Given the description of an element on the screen output the (x, y) to click on. 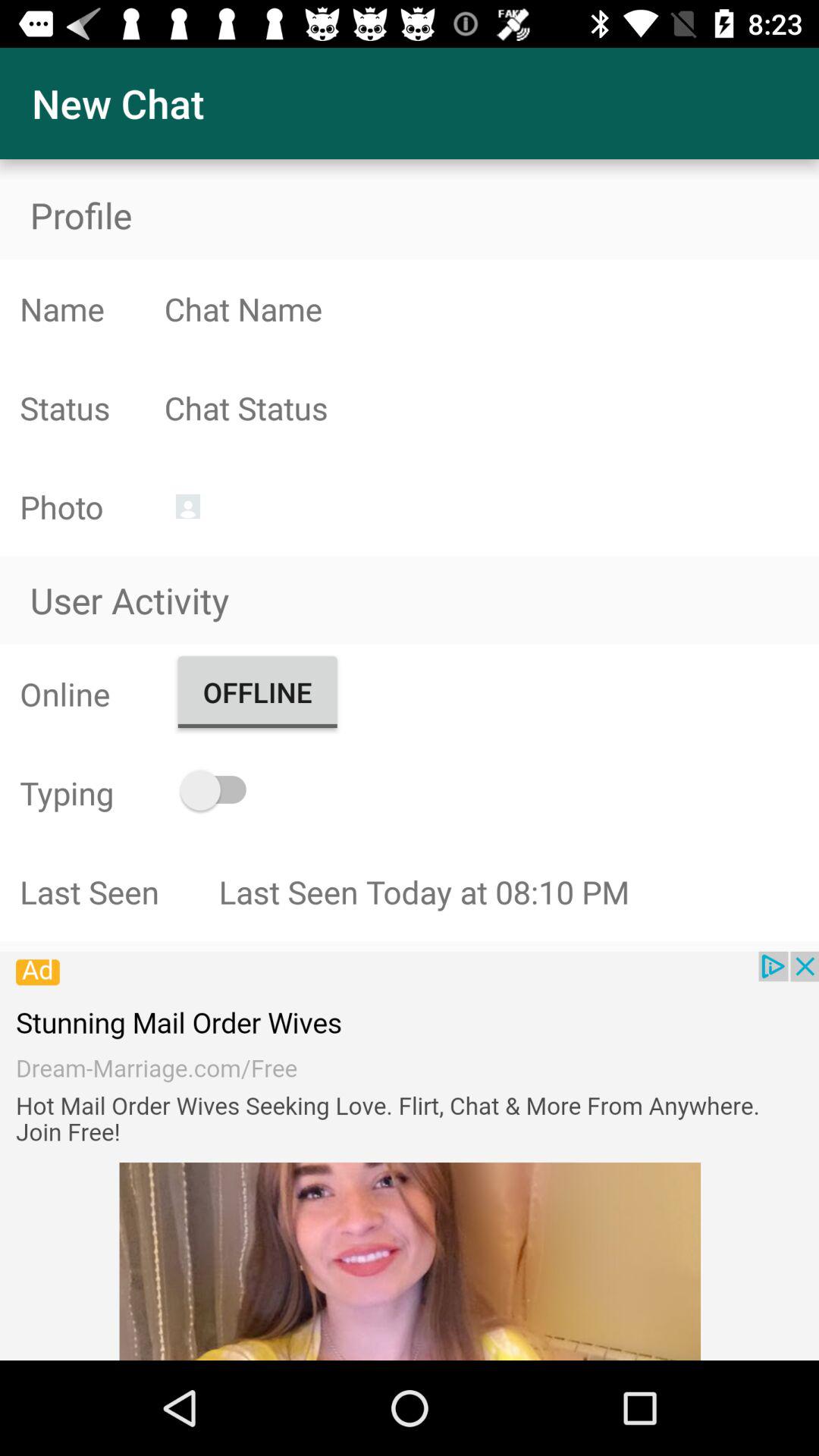
open advertisement (409, 1155)
